Given the description of an element on the screen output the (x, y) to click on. 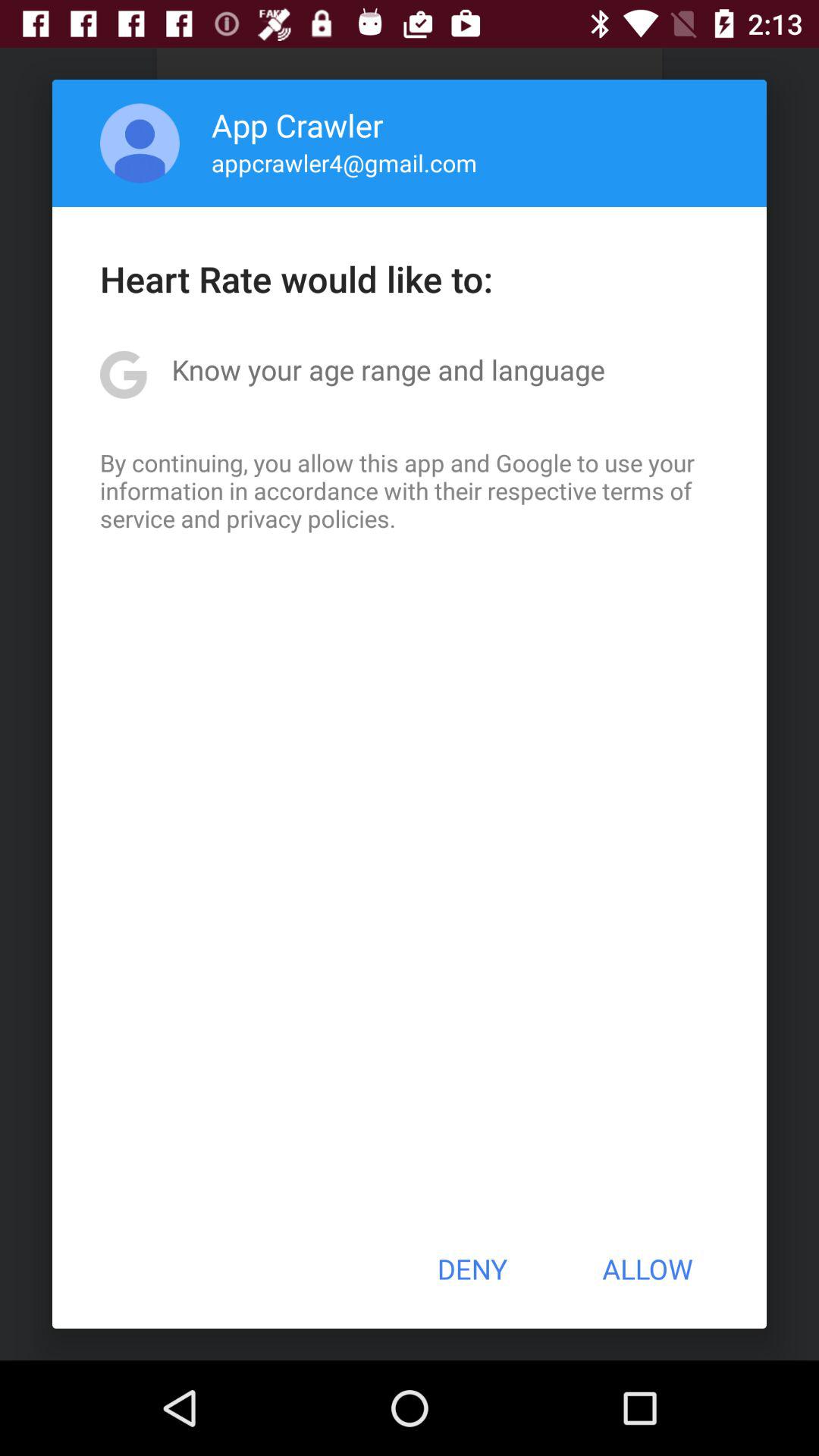
choose app above by continuing you app (388, 369)
